Given the description of an element on the screen output the (x, y) to click on. 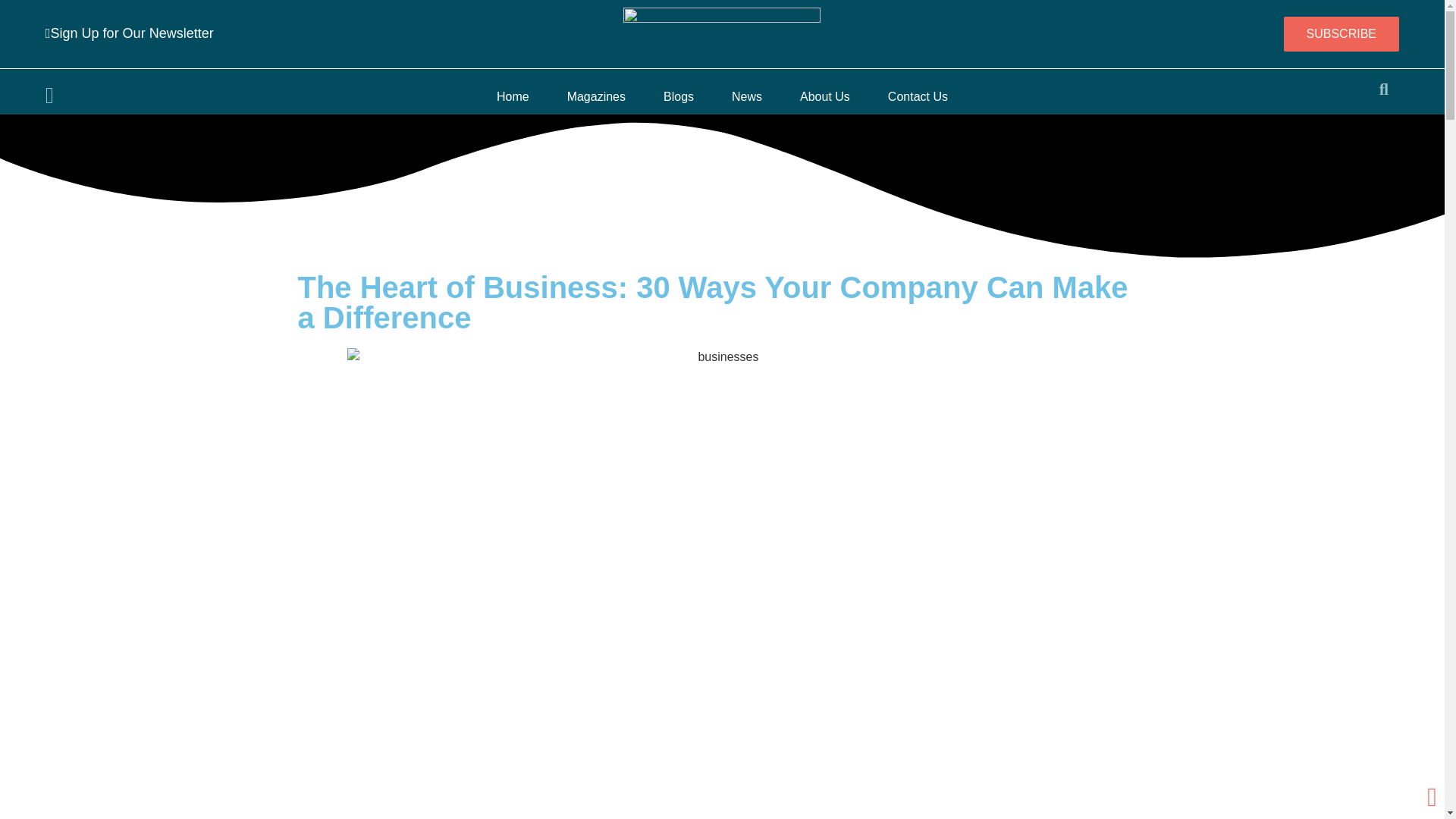
About Us (824, 96)
Sign Up for Our Newsletter (129, 33)
Home (512, 96)
News (746, 96)
Contact Us (917, 96)
Blogs (678, 96)
SUBSCRIBE (1339, 33)
Magazines (595, 96)
